Given the description of an element on the screen output the (x, y) to click on. 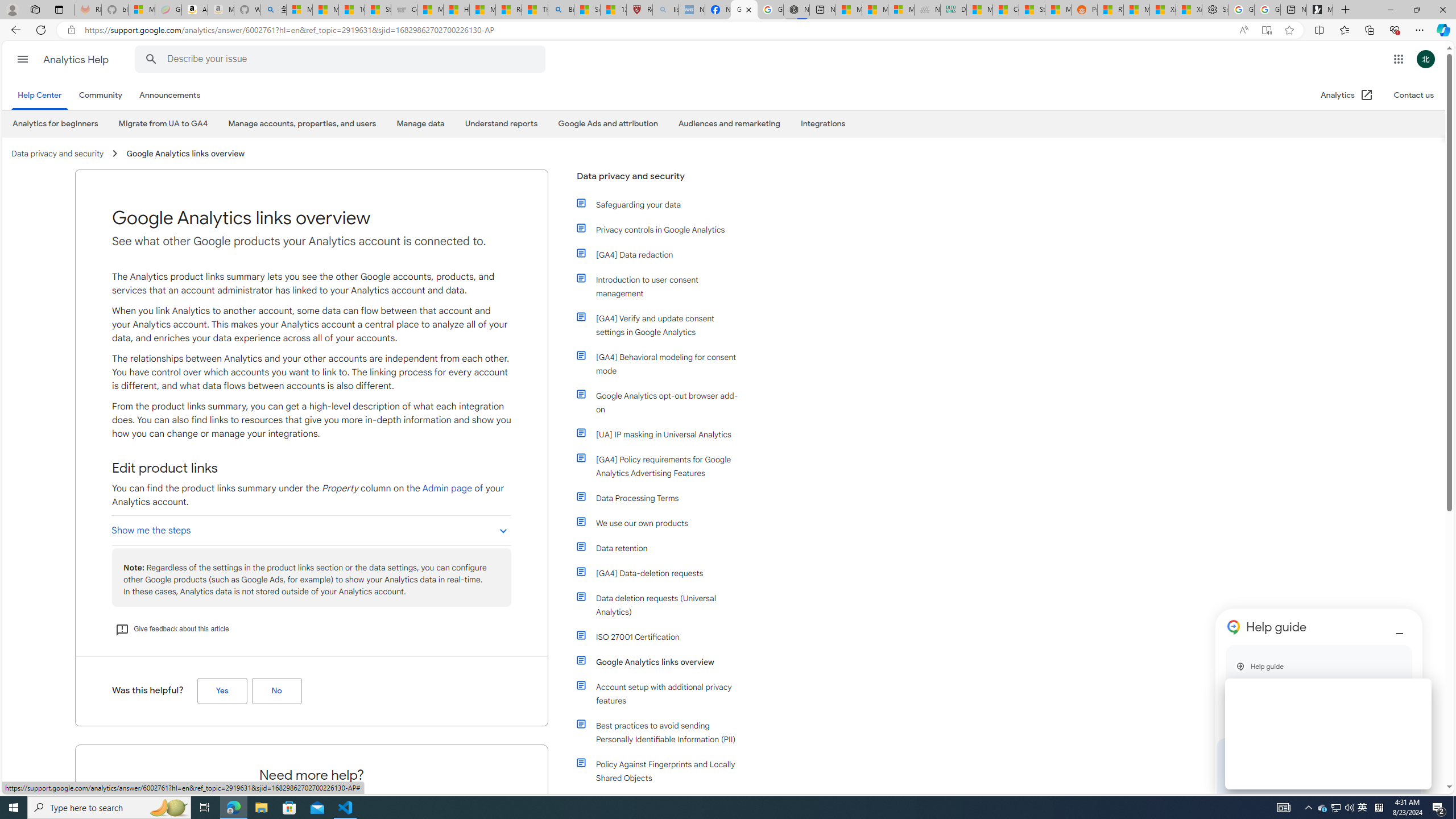
Audiences and remarketing (729, 123)
Privacy controls in Google Analytics (664, 229)
Help Center (39, 95)
Data controls in Universal Analytics (658, 802)
Migrate from UA to GA4 (162, 123)
Manage accounts, properties, and users (302, 123)
Manage accounts, properties, and users (302, 123)
Nordace - Nordace Siena Is Not An Ordinary Backpack (795, 9)
Show me the steps (311, 530)
Introduction to user consent management (658, 286)
